Given the description of an element on the screen output the (x, y) to click on. 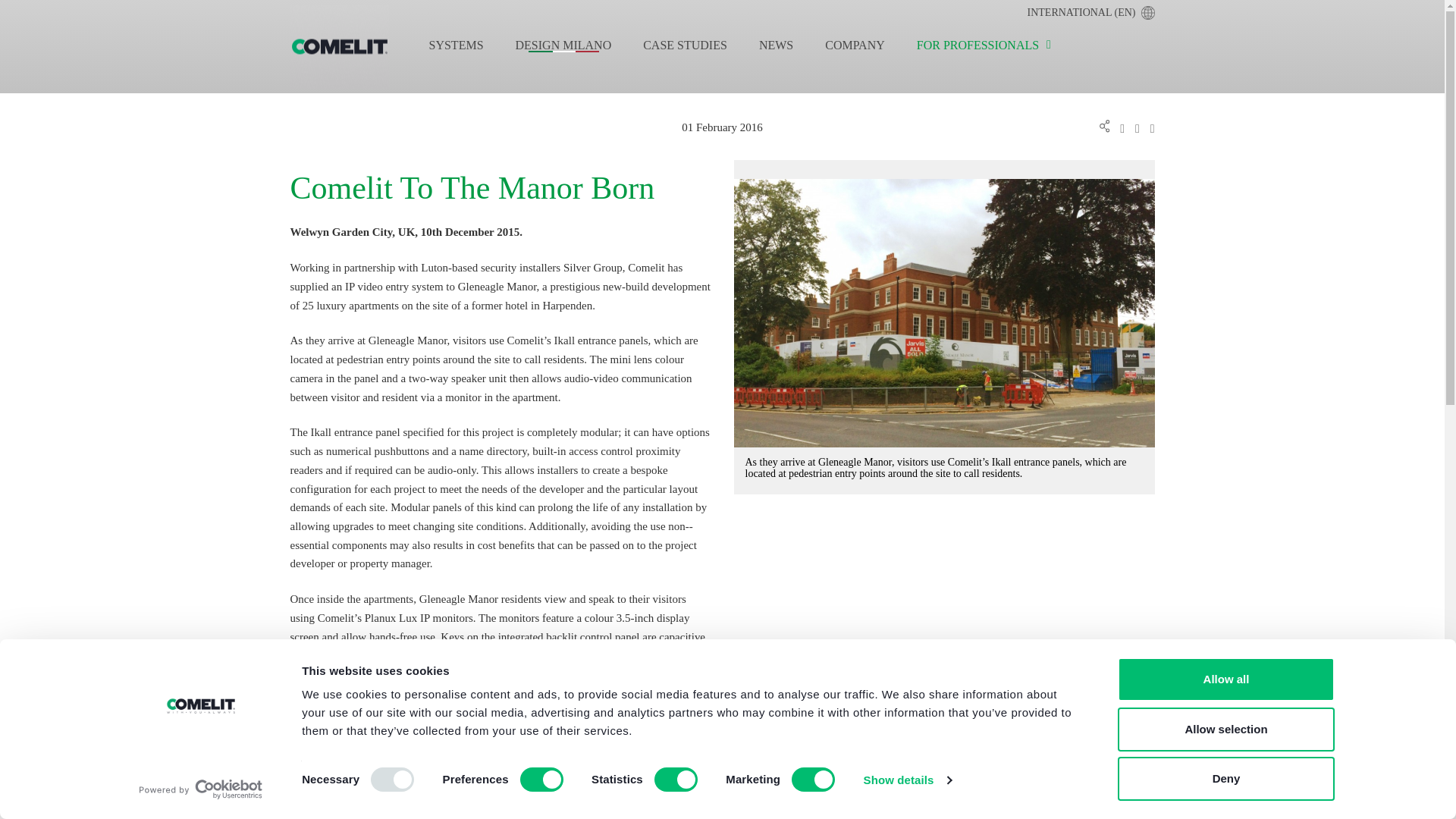
Show details (907, 780)
Deny (1226, 778)
Allow selection (1226, 728)
